Given the description of an element on the screen output the (x, y) to click on. 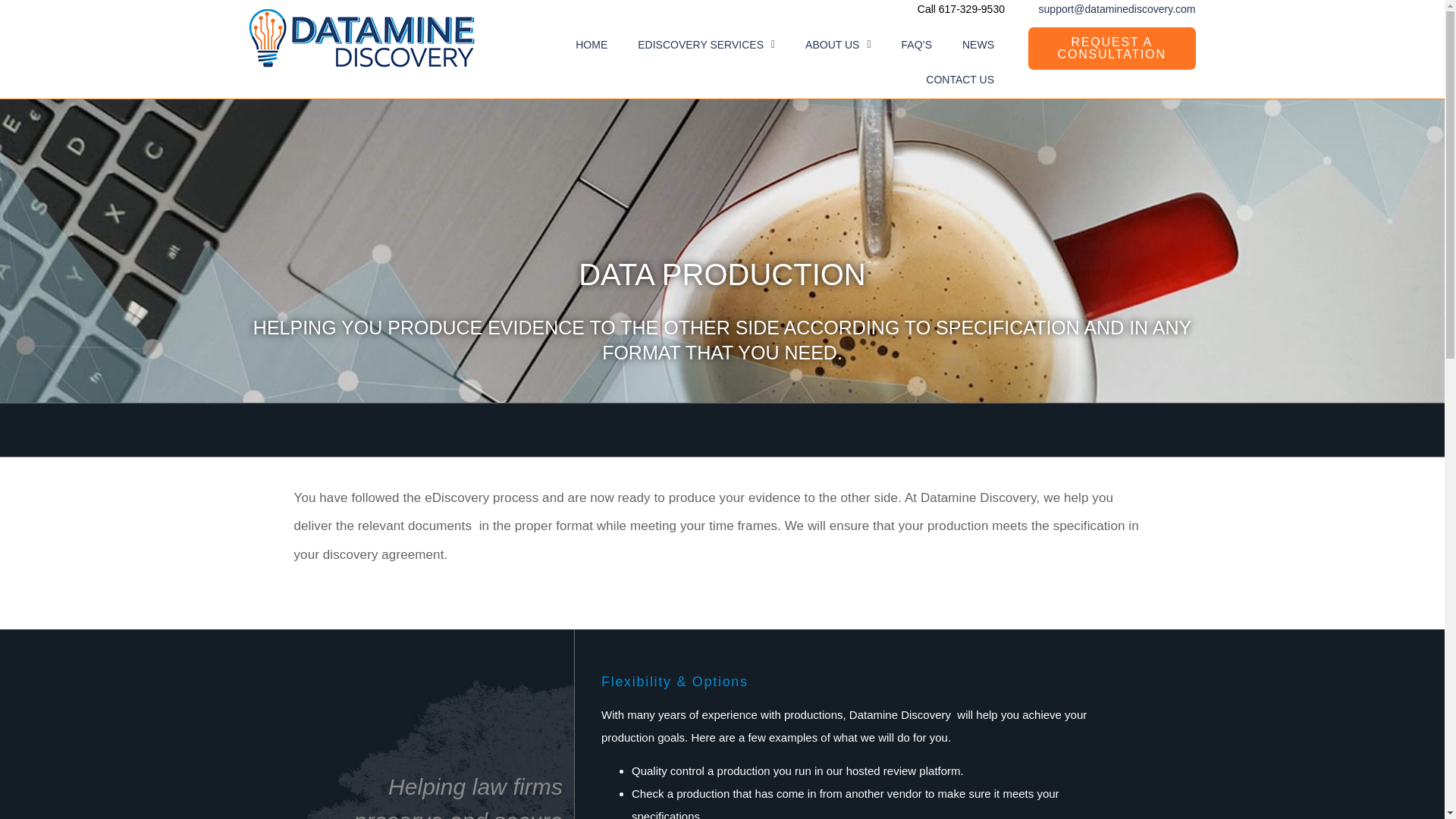
REQUEST A CONSULTATION (1111, 48)
ABOUT US (837, 44)
EDISCOVERY SERVICES (706, 44)
NEWS (978, 44)
CONTACT US (960, 79)
HOME (591, 44)
Call 617-329-9530 (960, 9)
